Given the description of an element on the screen output the (x, y) to click on. 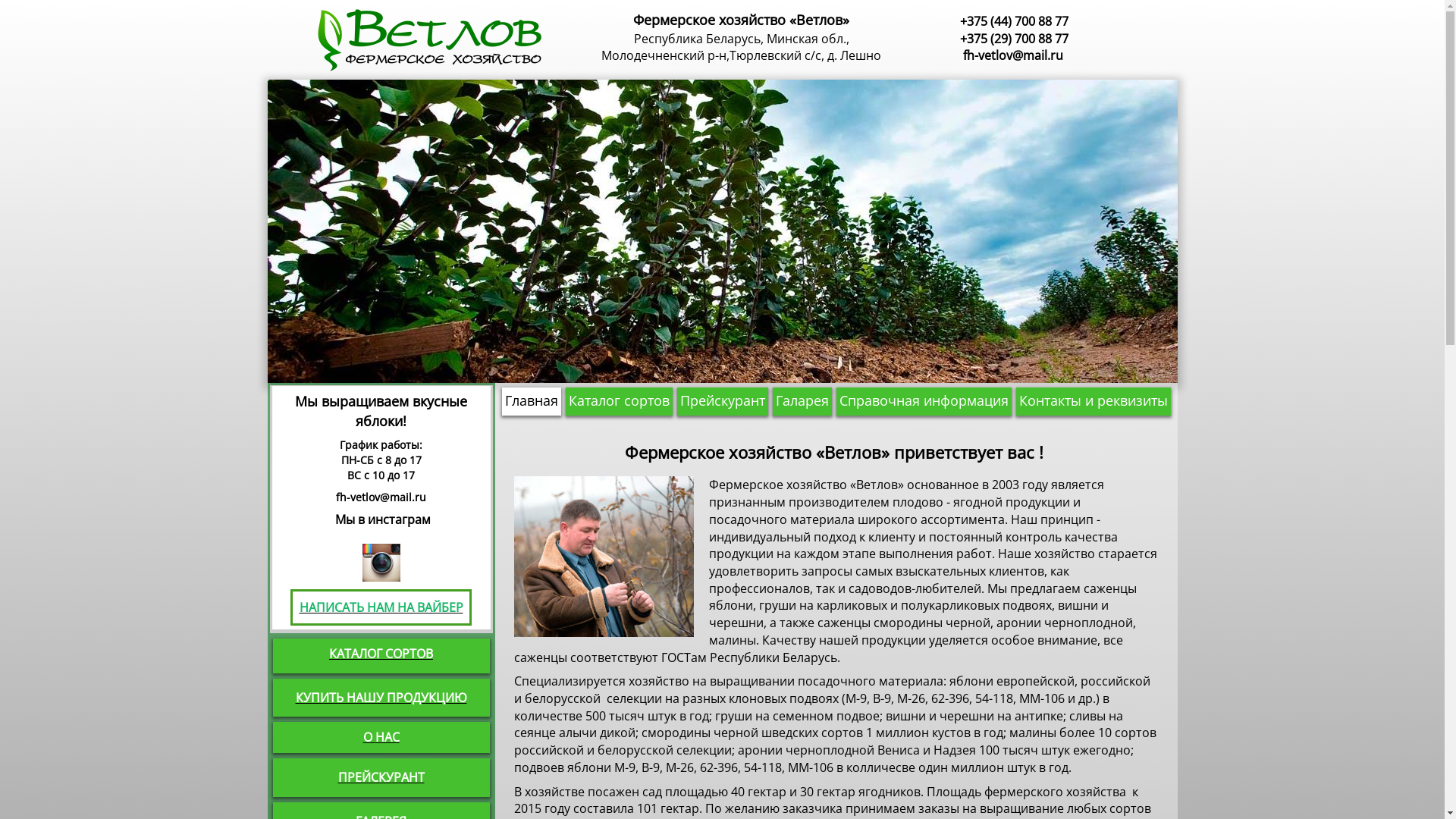
fh-vetlov@mail.ru Element type: text (1013, 55)
+375 (29) 700 88 77 Element type: text (1014, 38)
375 (44) 700 88 77 Element type: text (1017, 20)
